Given the description of an element on the screen output the (x, y) to click on. 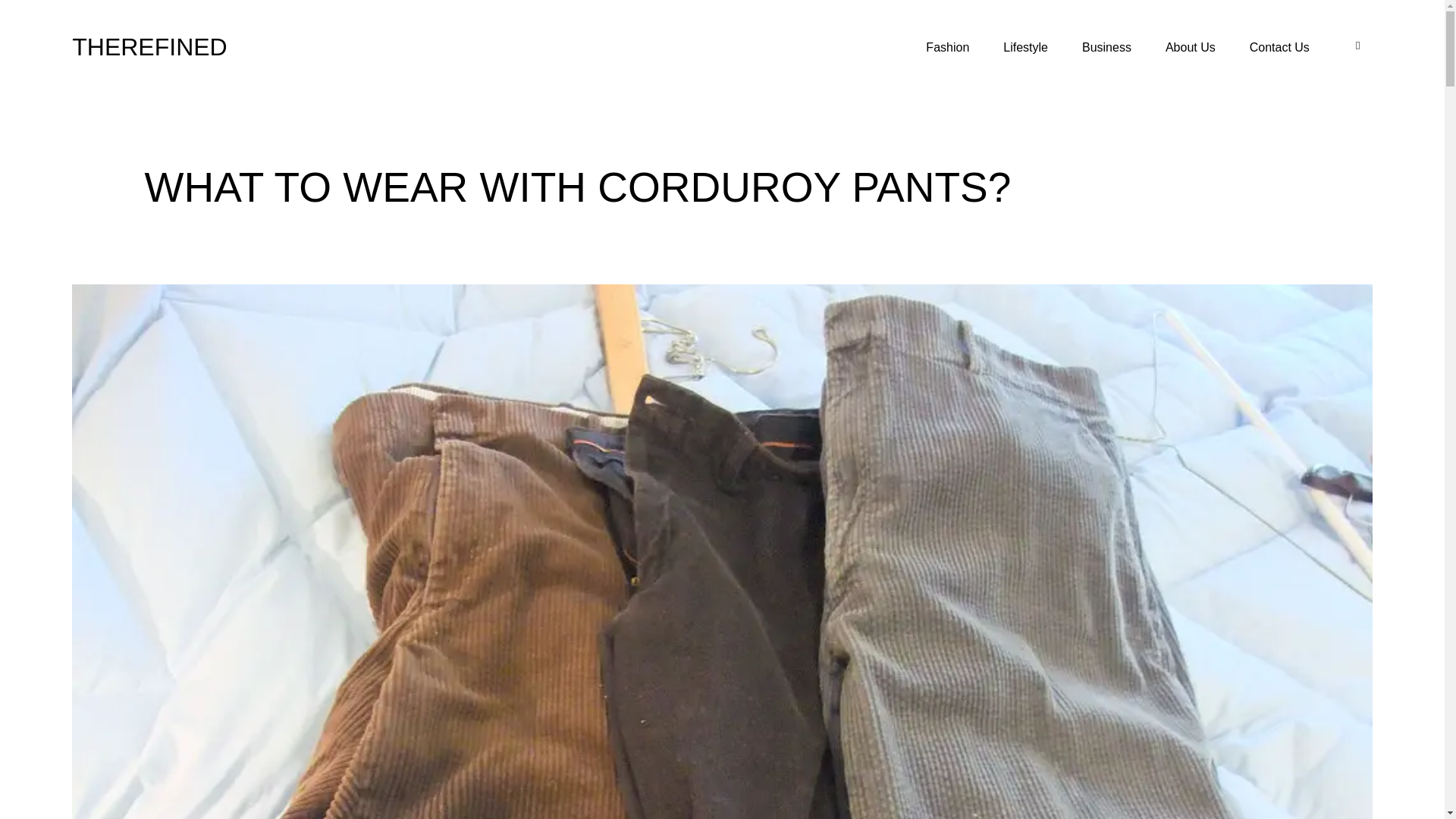
Contact Us (1279, 47)
Fashion (947, 47)
THEREFINED (149, 46)
Lifestyle (1025, 47)
About Us (1190, 47)
Business (1107, 47)
